Given the description of an element on the screen output the (x, y) to click on. 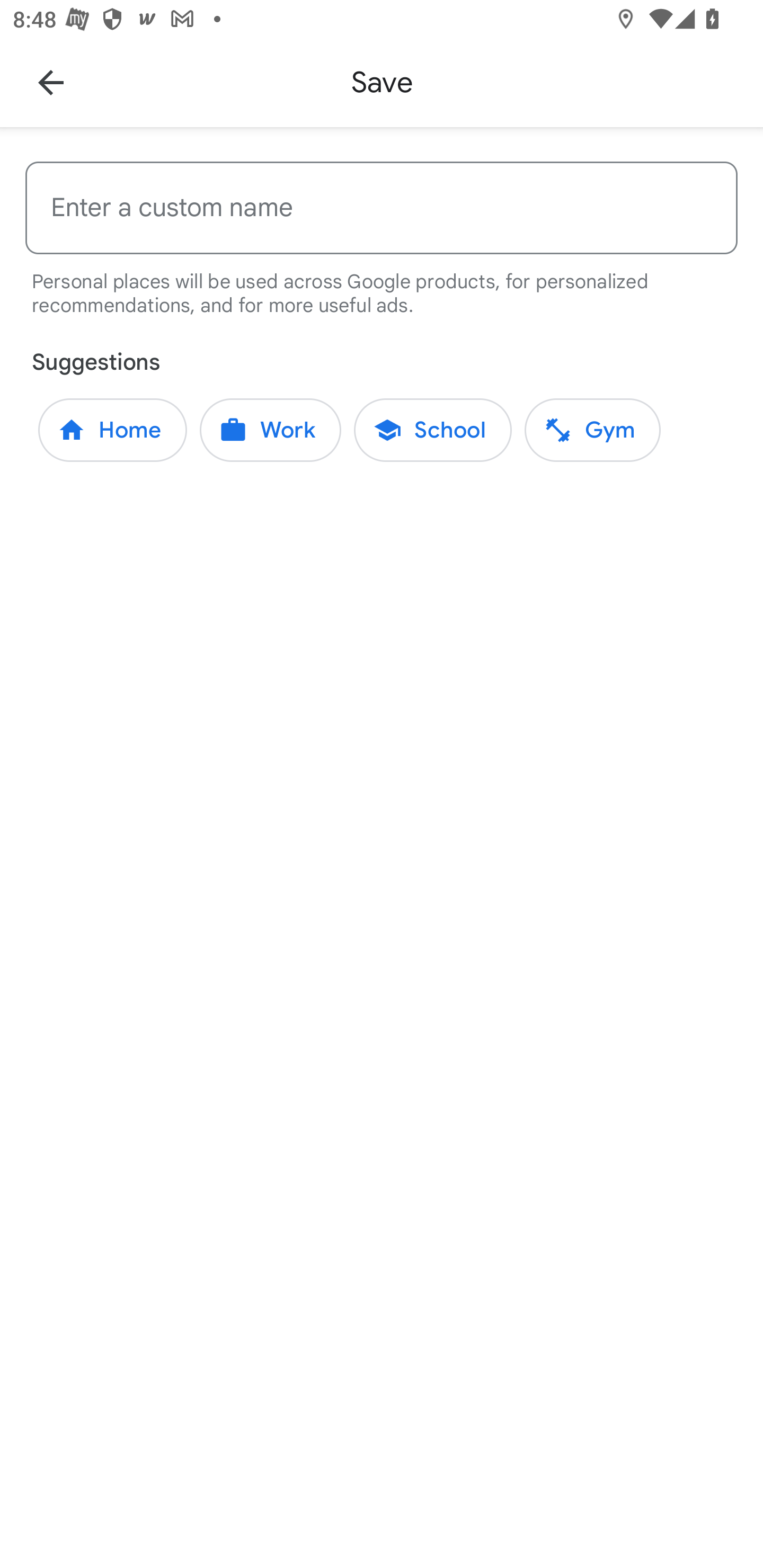
Navigate up (50, 81)
Enter a custom name (381, 207)
Home (112, 430)
Work (270, 430)
School (432, 430)
Gym (592, 430)
